Given the description of an element on the screen output the (x, y) to click on. 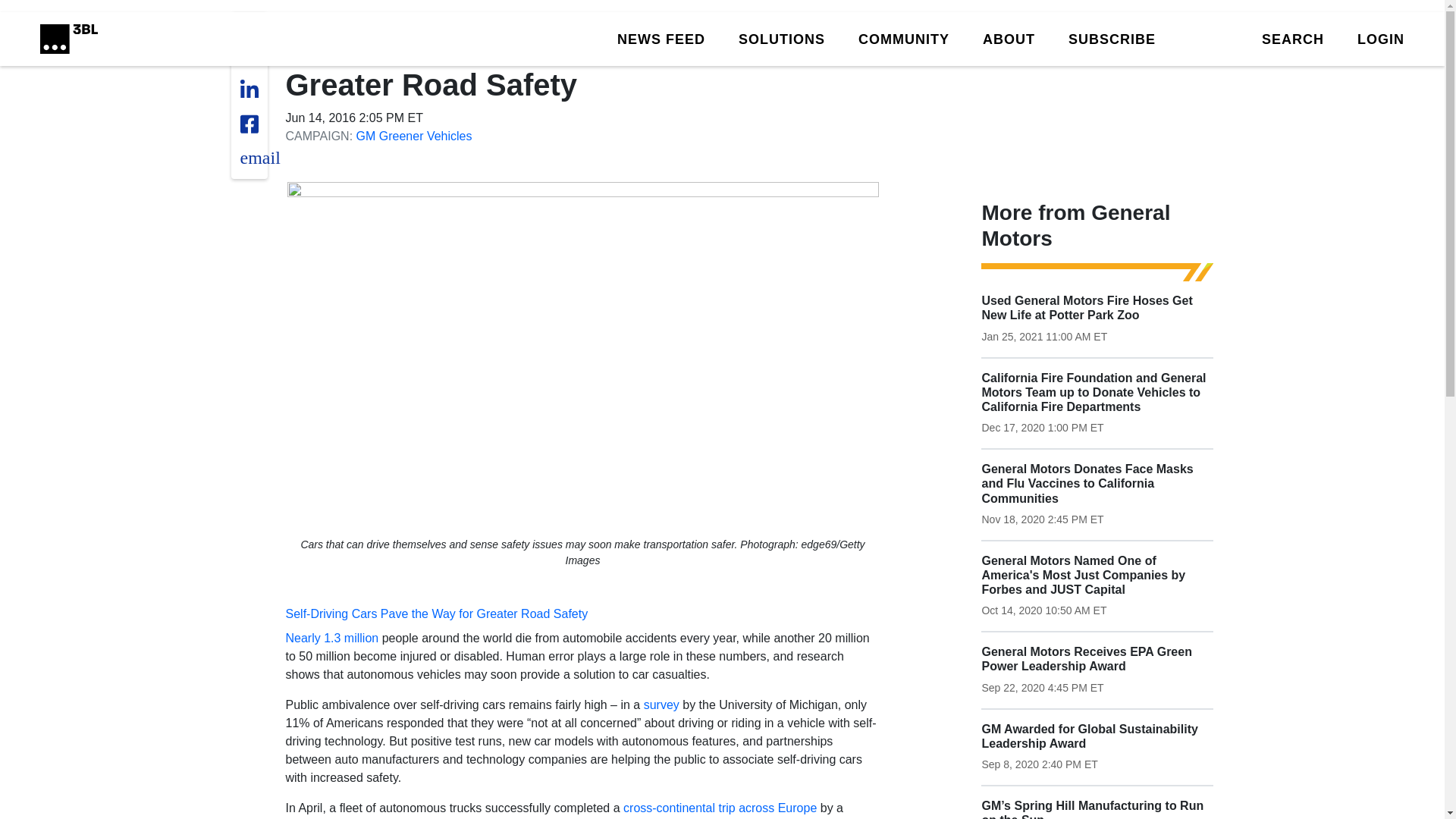
link to 3 B L Media's Twitter (253, 33)
NEWS FEED (660, 38)
ABOUT (1008, 38)
Share via email (259, 157)
SOLUTIONS (781, 38)
SUBSCRIBE (1112, 38)
COMMUNITY (904, 38)
